Given the description of an element on the screen output the (x, y) to click on. 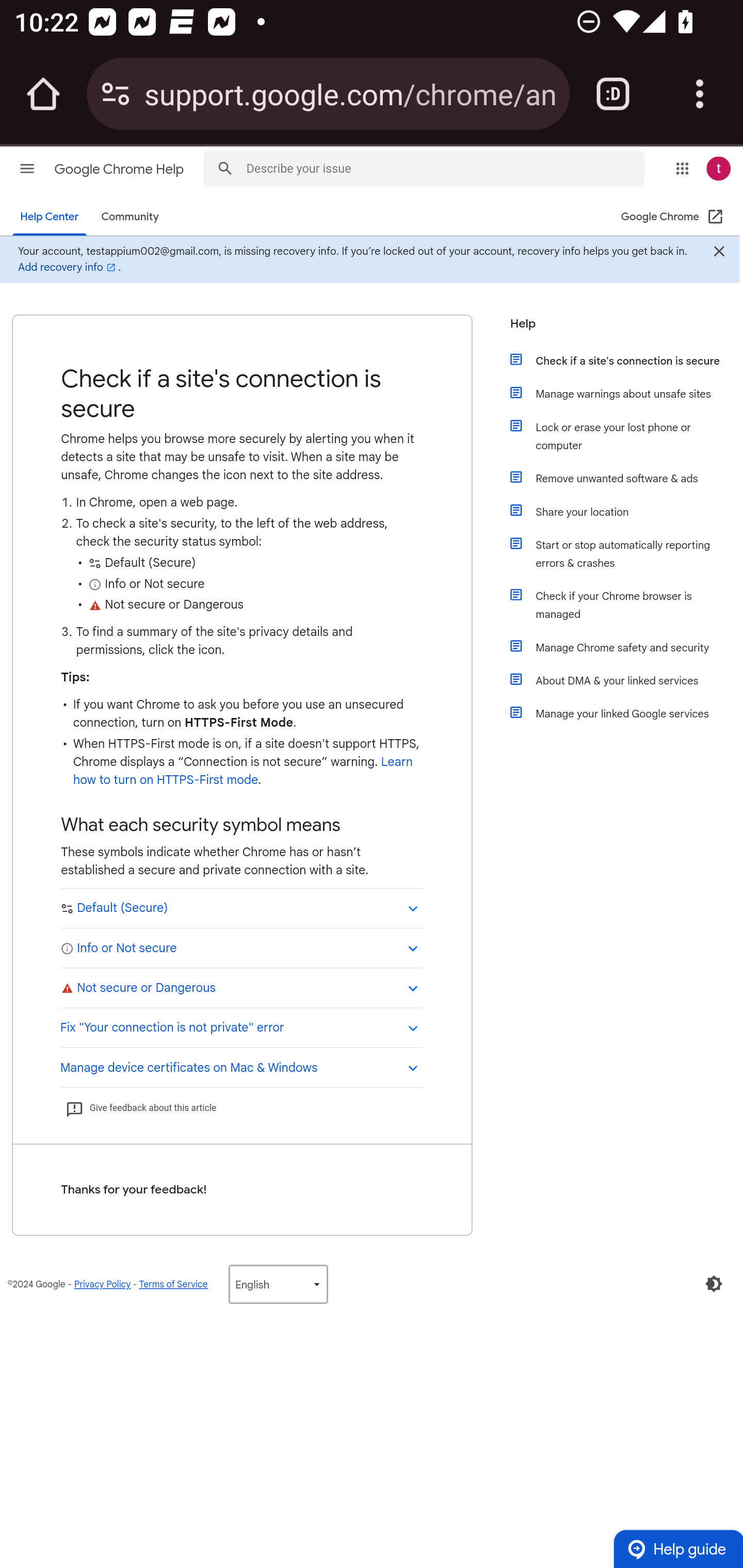
Open the home page (43, 93)
Connection is secure (115, 93)
Switch or close tabs (612, 93)
Customize and control Google Chrome (699, 93)
